Given the description of an element on the screen output the (x, y) to click on. 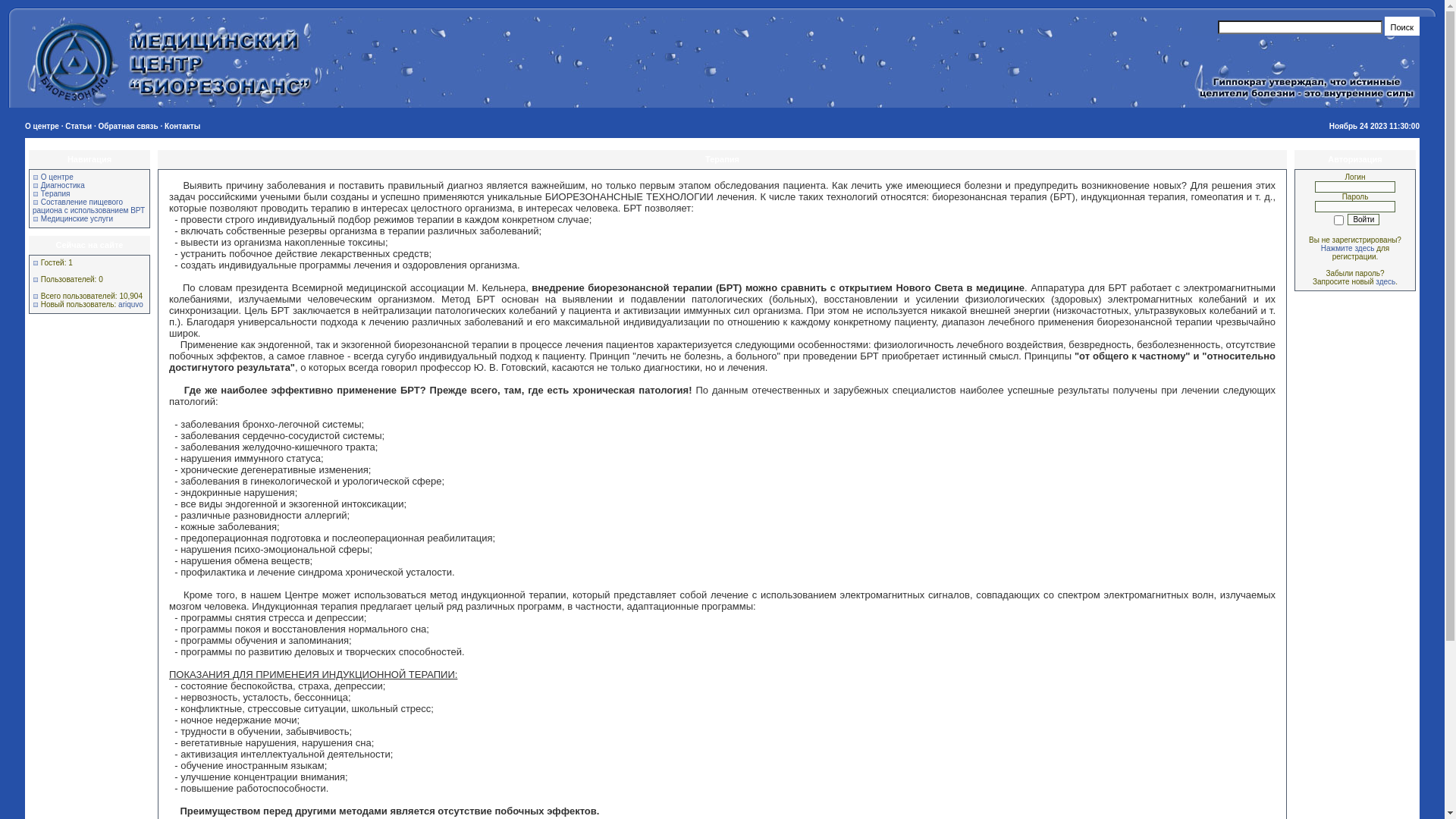
ariquvo Element type: text (130, 304)
